Given the description of an element on the screen output the (x, y) to click on. 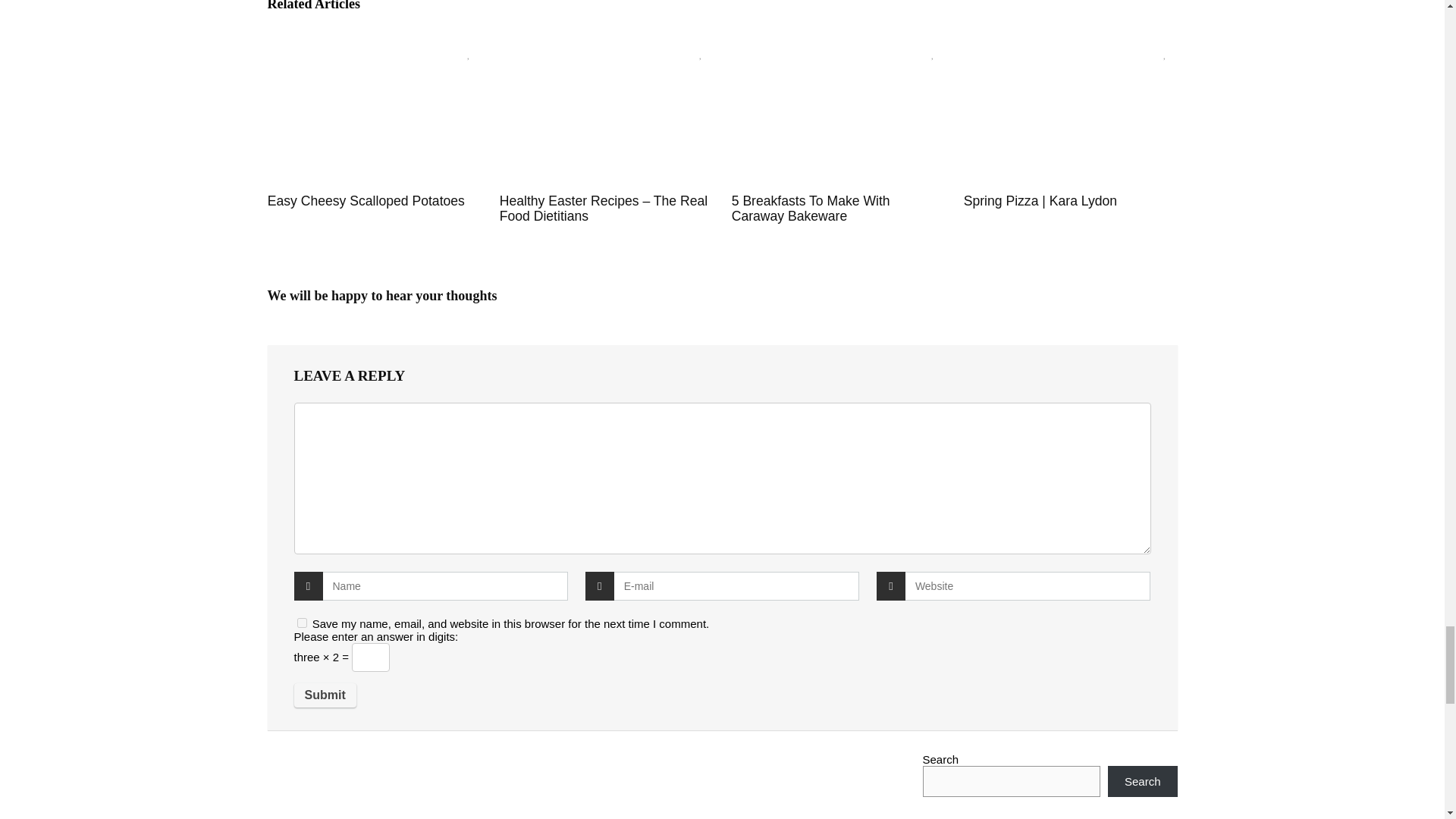
Easy Cheesy Scalloped Potatoes (365, 200)
Submit (325, 695)
yes (302, 623)
